Given the description of an element on the screen output the (x, y) to click on. 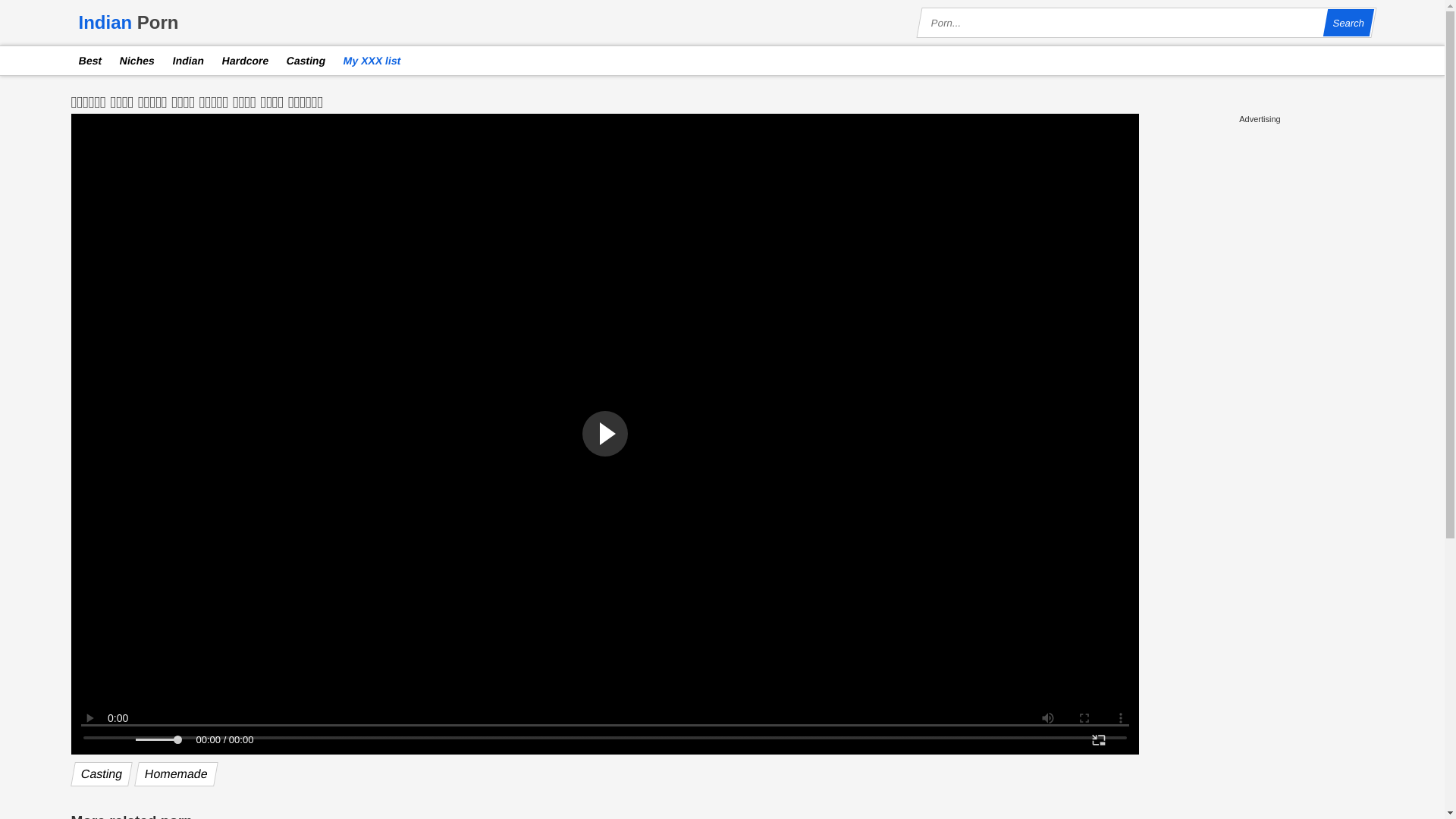
Search (1346, 22)
Indian (184, 60)
Homemade (173, 774)
Indian Porn (128, 22)
My XXX list (369, 60)
Casting (98, 774)
Hardcore (242, 60)
Casting (303, 60)
Best (87, 60)
Niches (133, 60)
